Given the description of an element on the screen output the (x, y) to click on. 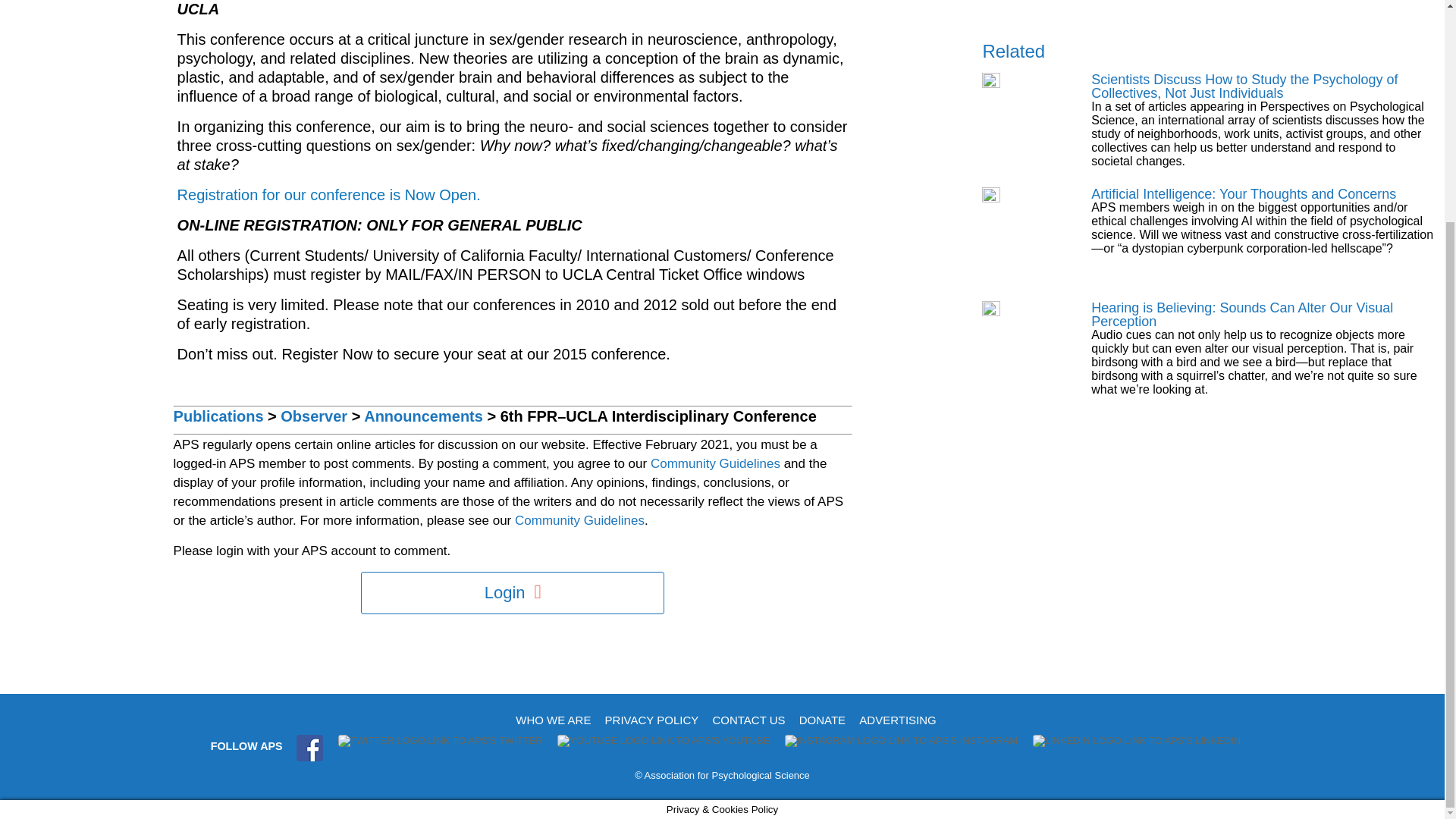
Go to the Observer category archives. (314, 416)
Go to the Publications category archives. (218, 416)
Go to the Announcements category archives. (423, 416)
